Given the description of an element on the screen output the (x, y) to click on. 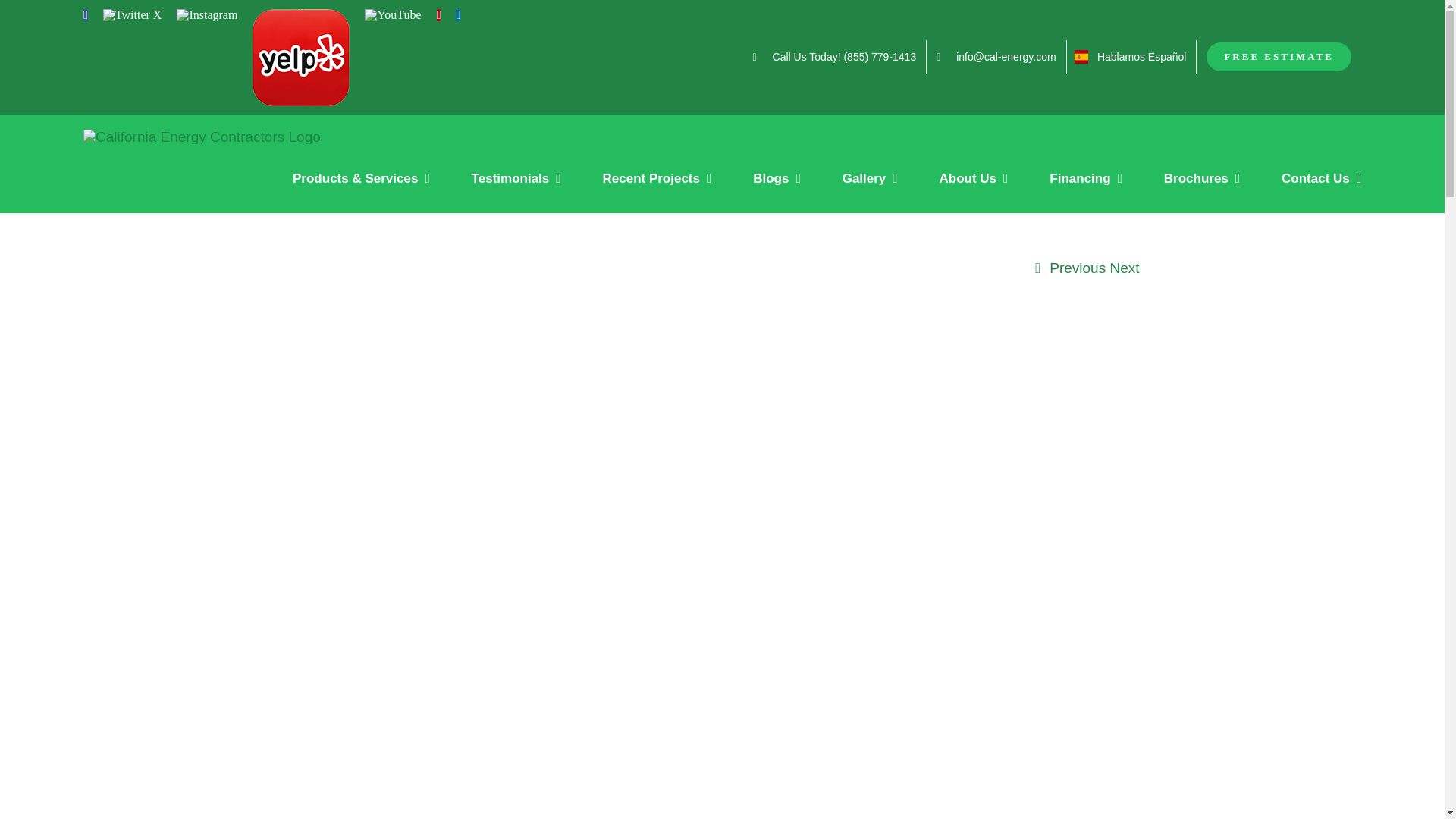
Twitter X (132, 15)
Yelp (300, 57)
YouTube (392, 15)
Yelp (300, 57)
Twitter X (132, 15)
Instagram (206, 15)
FREE ESTIMATE (1278, 56)
YouTube (392, 15)
Instagram (206, 15)
